Given the description of an element on the screen output the (x, y) to click on. 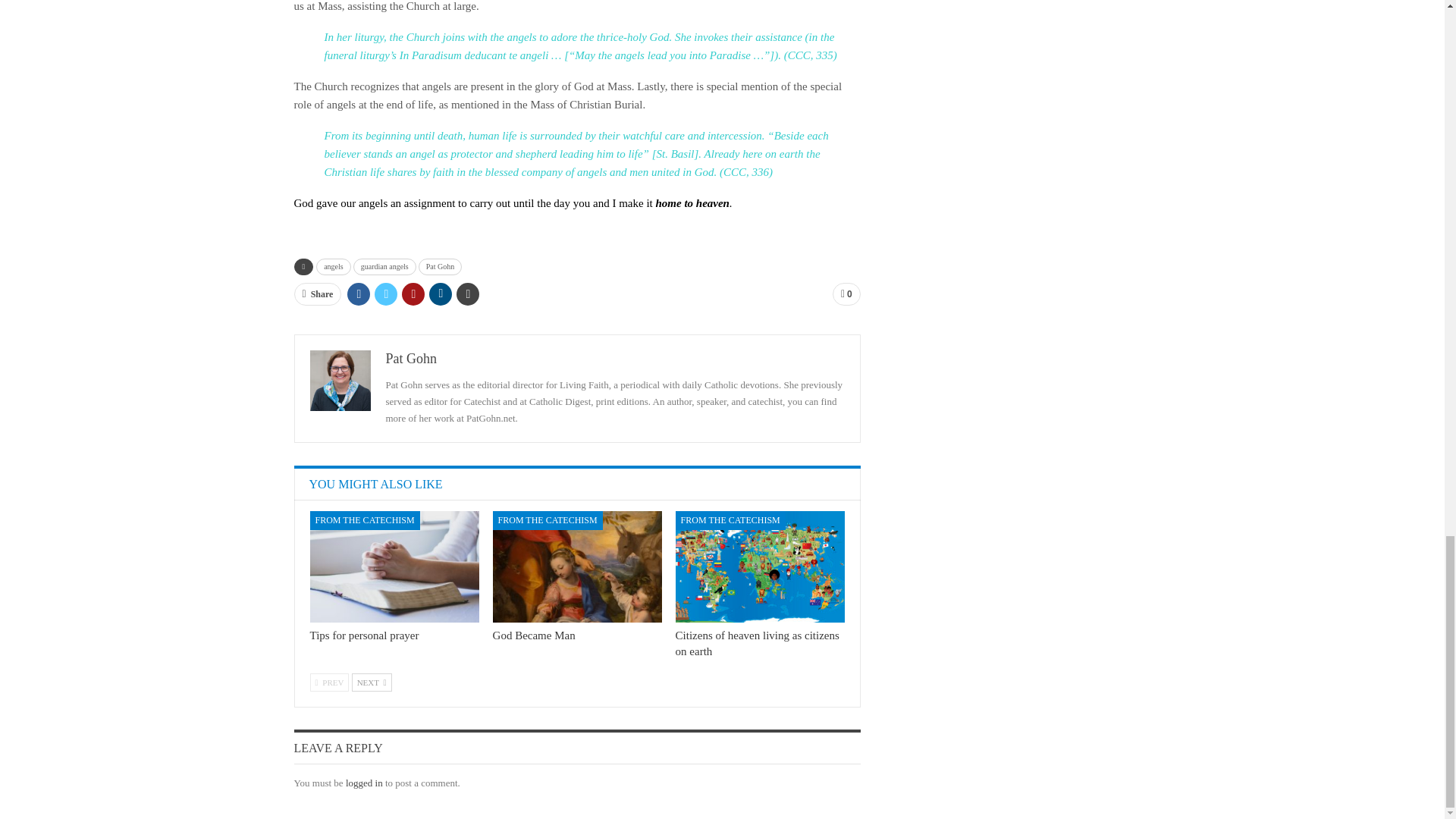
Citizens of heaven living as citizens on earth (759, 566)
Previous (328, 682)
Next (371, 682)
Tips for personal prayer (393, 566)
God Became Man (577, 566)
